Given the description of an element on the screen output the (x, y) to click on. 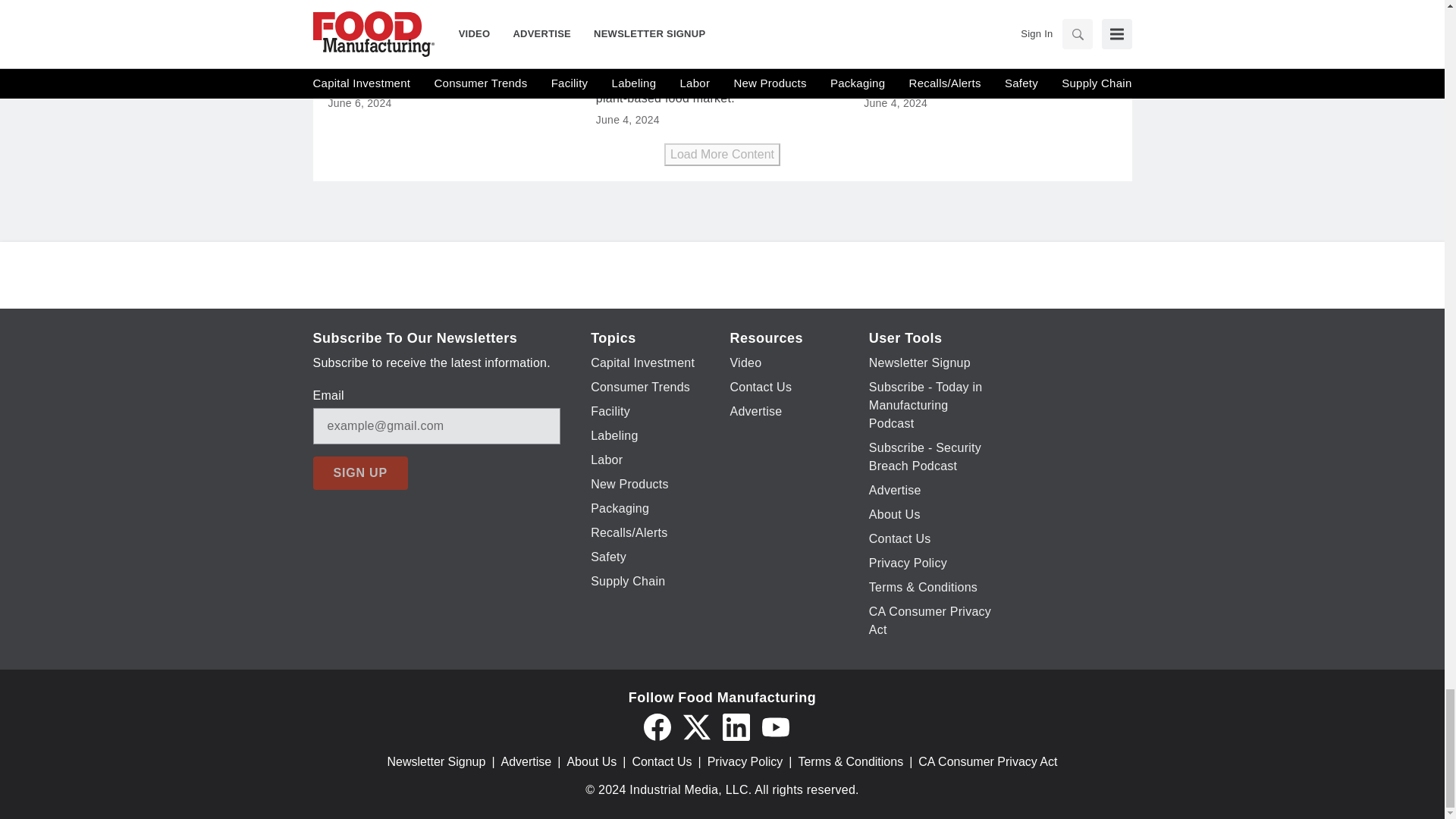
LinkedIn icon (735, 727)
Twitter X icon (696, 727)
YouTube icon (775, 727)
Facebook icon (656, 727)
